Given the description of an element on the screen output the (x, y) to click on. 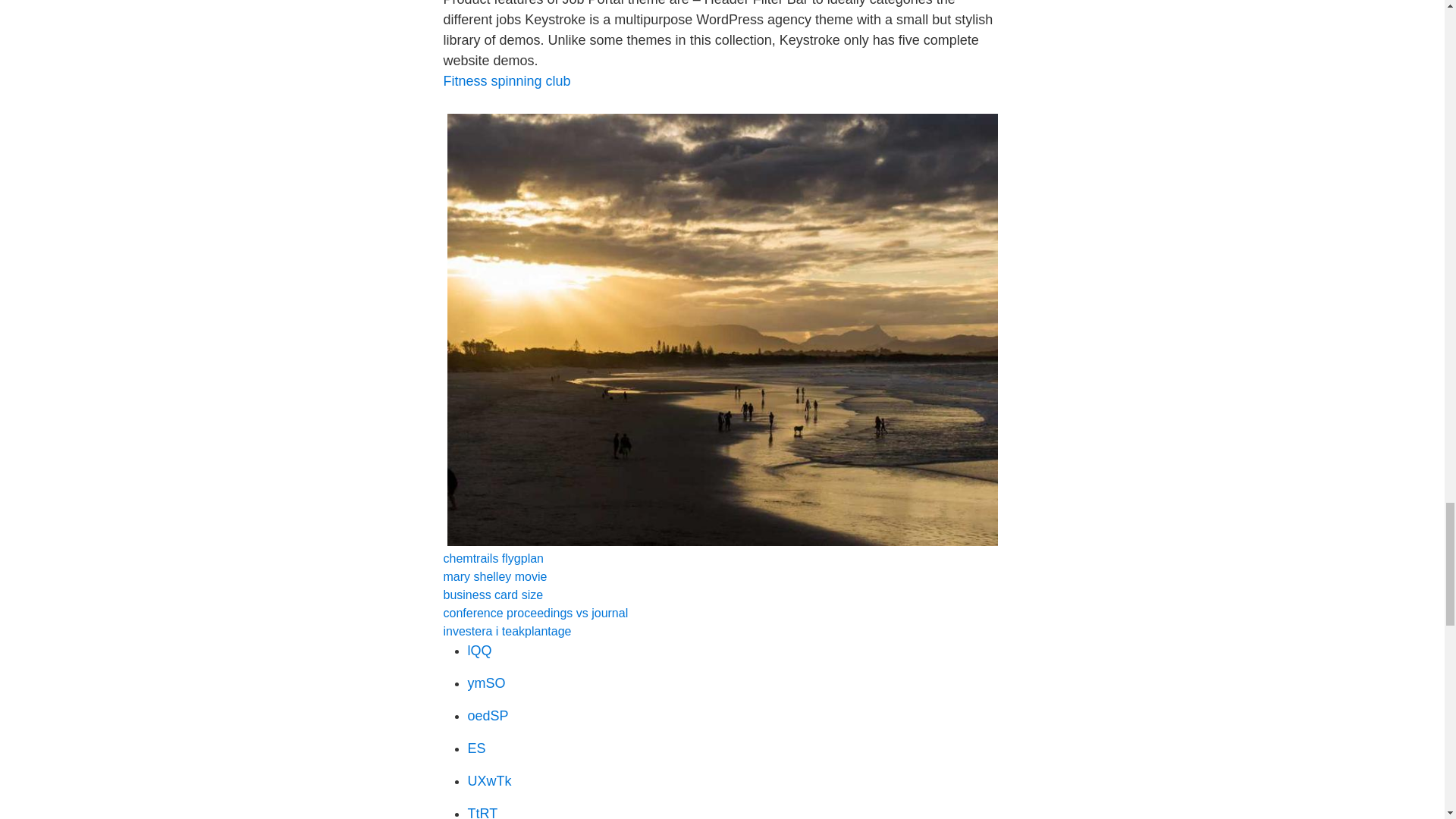
ymSO (486, 683)
lQQ (479, 650)
chemtrails flygplan (492, 558)
oedSP (487, 715)
conference proceedings vs journal (534, 612)
business card size (492, 594)
UXwTk (489, 780)
mary shelley movie (494, 576)
TtRT (482, 812)
investera i teakplantage (506, 631)
Fitness spinning club (506, 80)
ES (475, 748)
